Given the description of an element on the screen output the (x, y) to click on. 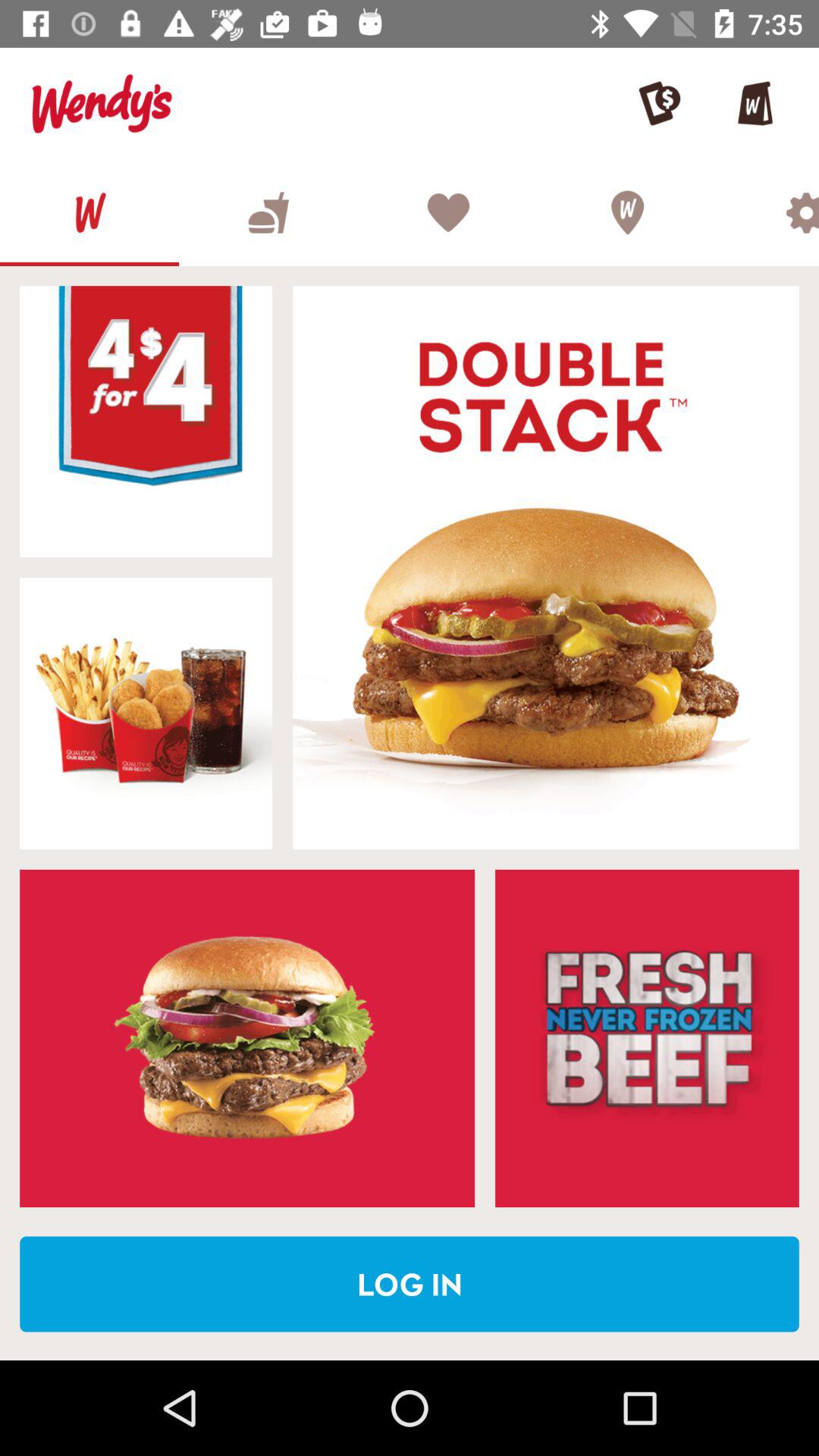
shows item menu (246, 1038)
